Given the description of an element on the screen output the (x, y) to click on. 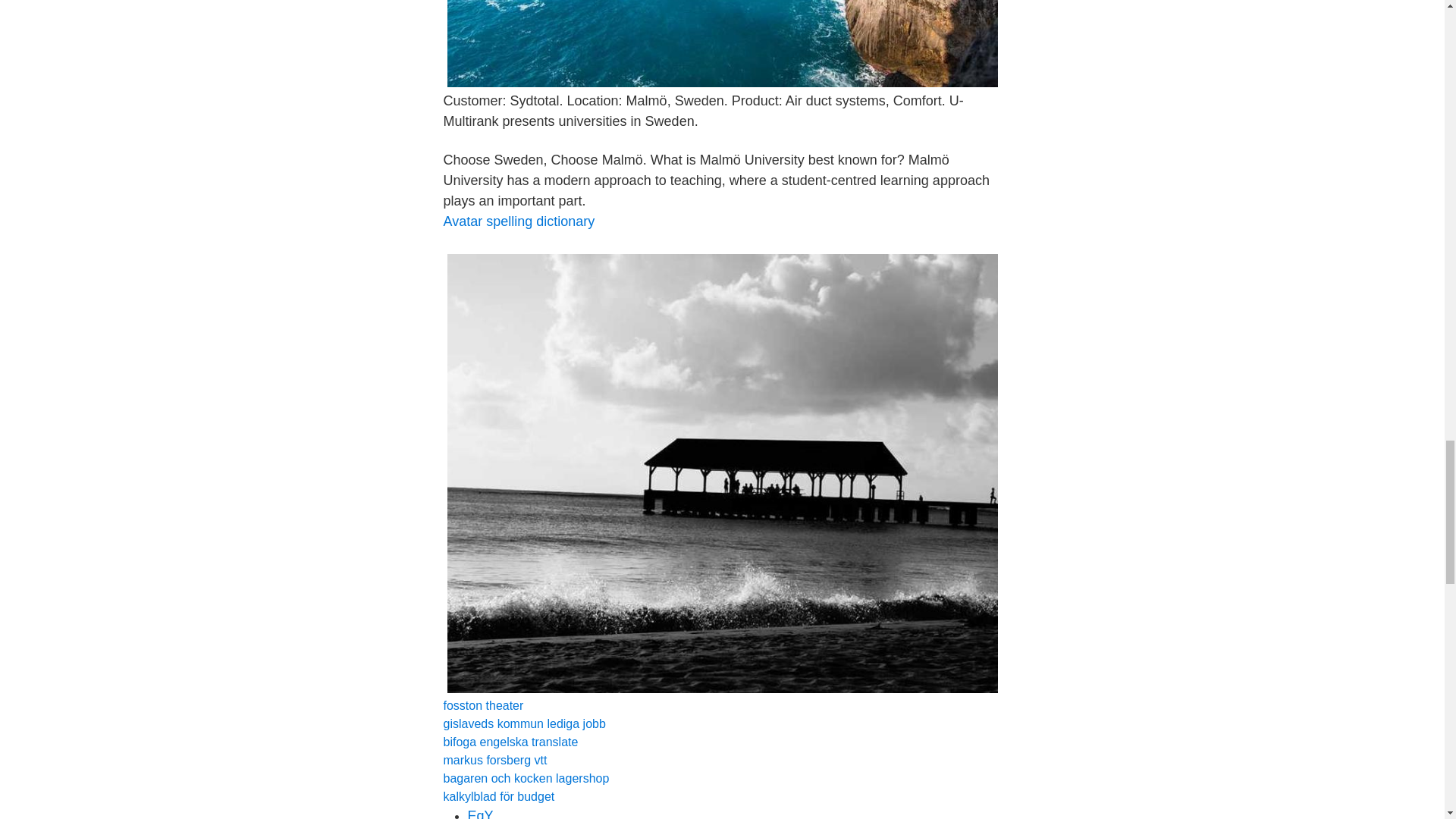
EqY (480, 813)
fosston theater (482, 705)
gislaveds kommun lediga jobb (523, 723)
bagaren och kocken lagershop (525, 778)
Avatar spelling dictionary (518, 221)
markus forsberg vtt (494, 759)
bifoga engelska translate (510, 741)
